Given the description of an element on the screen output the (x, y) to click on. 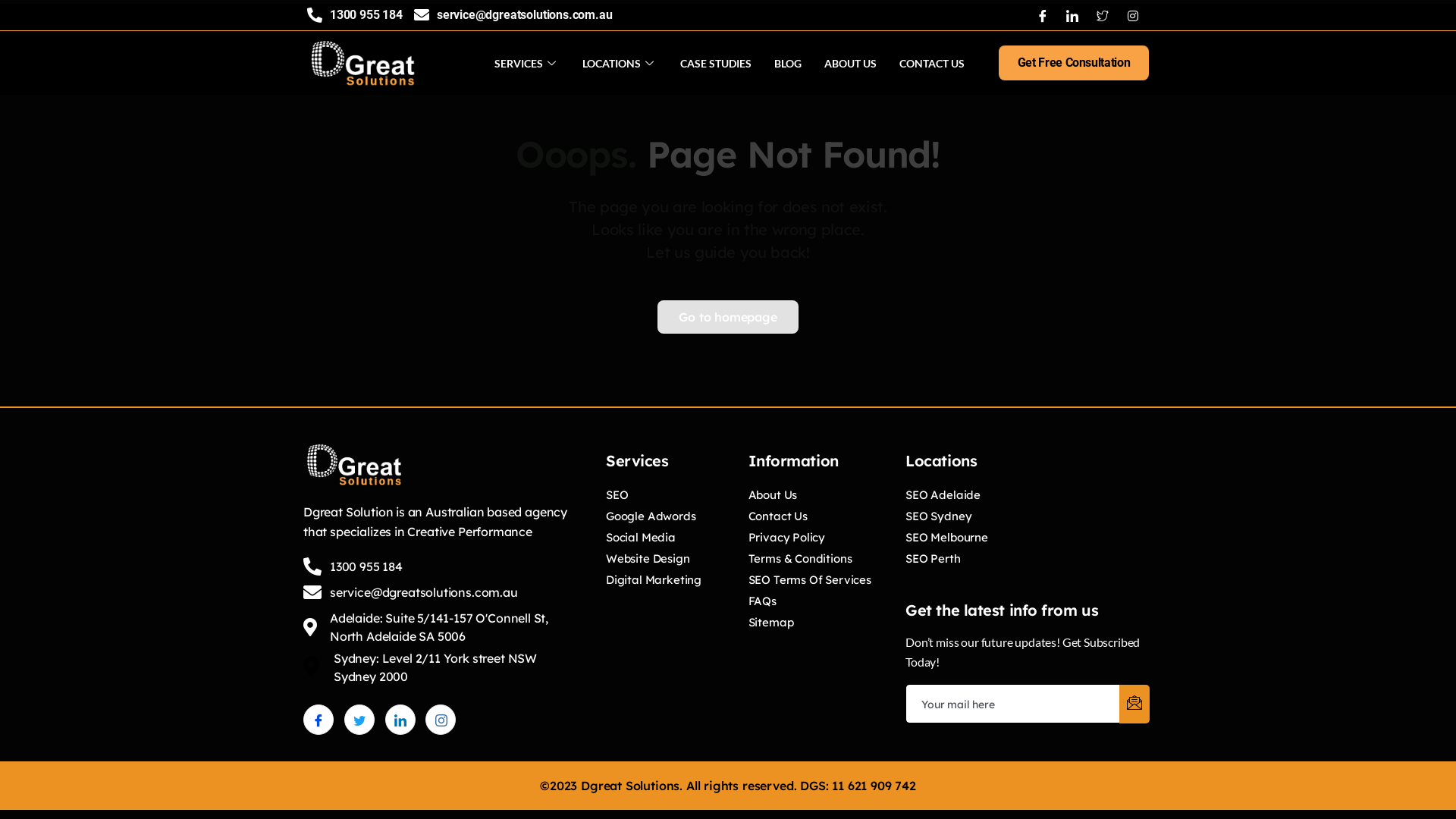
CASE STUDIES Element type: text (715, 62)
SEO Terms Of Services Element type: text (809, 584)
Get Free Consultation Element type: text (1073, 62)
Go to homepage Element type: text (728, 316)
About Us Element type: text (772, 499)
Terms & Conditions Element type: text (800, 563)
LOCATIONS Element type: text (619, 62)
Contact Us Element type: text (777, 520)
Website Design Element type: text (647, 563)
SEO Sydney Element type: text (938, 520)
SEO Melbourne Element type: text (946, 541)
Social Media Element type: text (640, 541)
ABOUT US Element type: text (850, 62)
Sitemap Element type: text (770, 626)
SEO Adelaide Element type: text (942, 499)
SEO Perth Element type: text (932, 563)
Privacy Policy Element type: text (786, 541)
Google Adwords Element type: text (650, 520)
Digital Marketing Element type: text (653, 584)
CONTACT US Element type: text (931, 62)
BLOG Element type: text (787, 62)
FAQs Element type: text (762, 605)
SERVICES Element type: text (527, 62)
SEO Element type: text (616, 499)
